Given the description of an element on the screen output the (x, y) to click on. 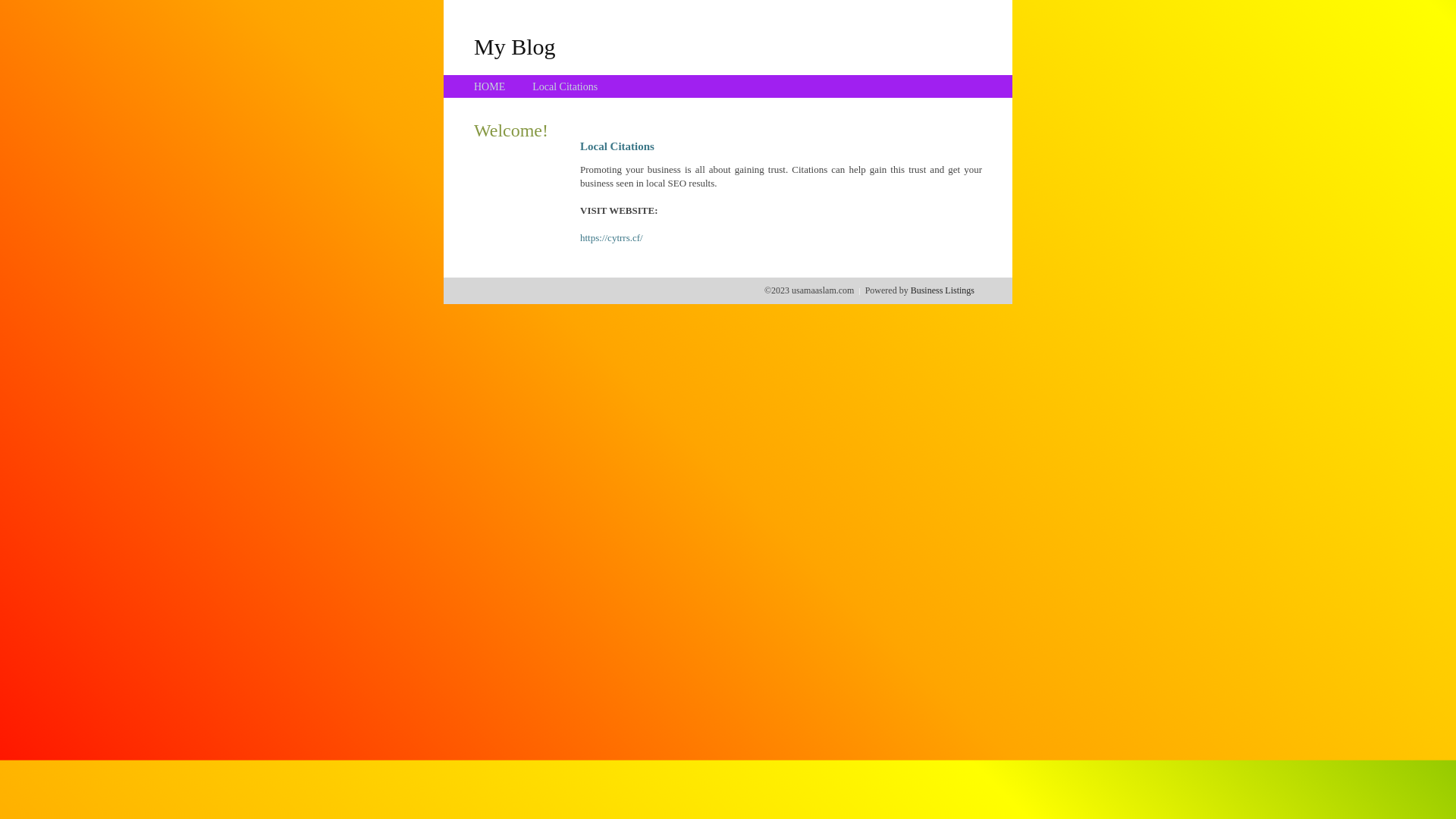
My Blog Element type: text (514, 46)
HOME Element type: text (489, 86)
https://cytrrs.cf/ Element type: text (611, 237)
Business Listings Element type: text (942, 290)
Local Citations Element type: text (564, 86)
